Given the description of an element on the screen output the (x, y) to click on. 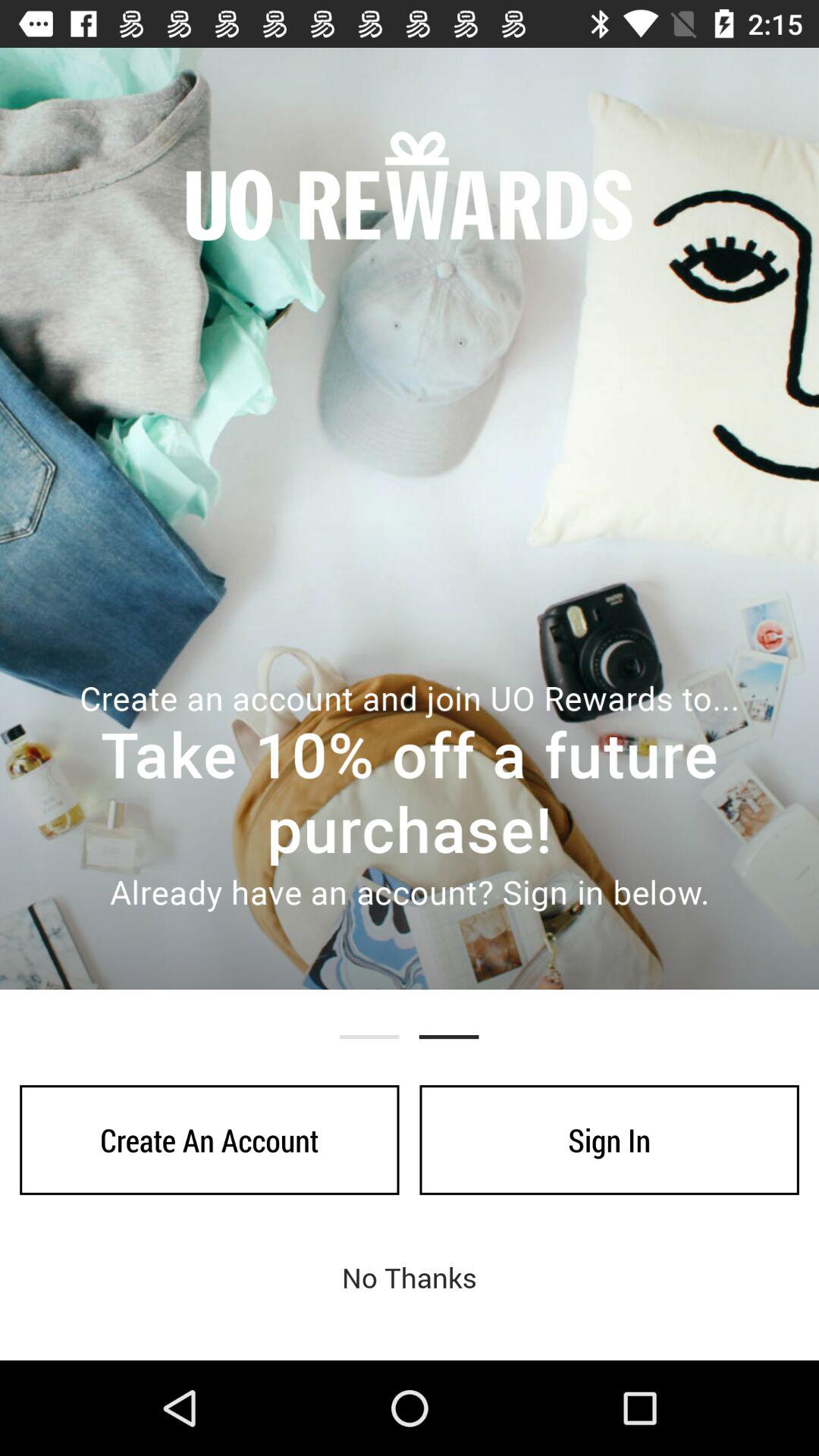
click item to the right of create an account item (609, 1139)
